Given the description of an element on the screen output the (x, y) to click on. 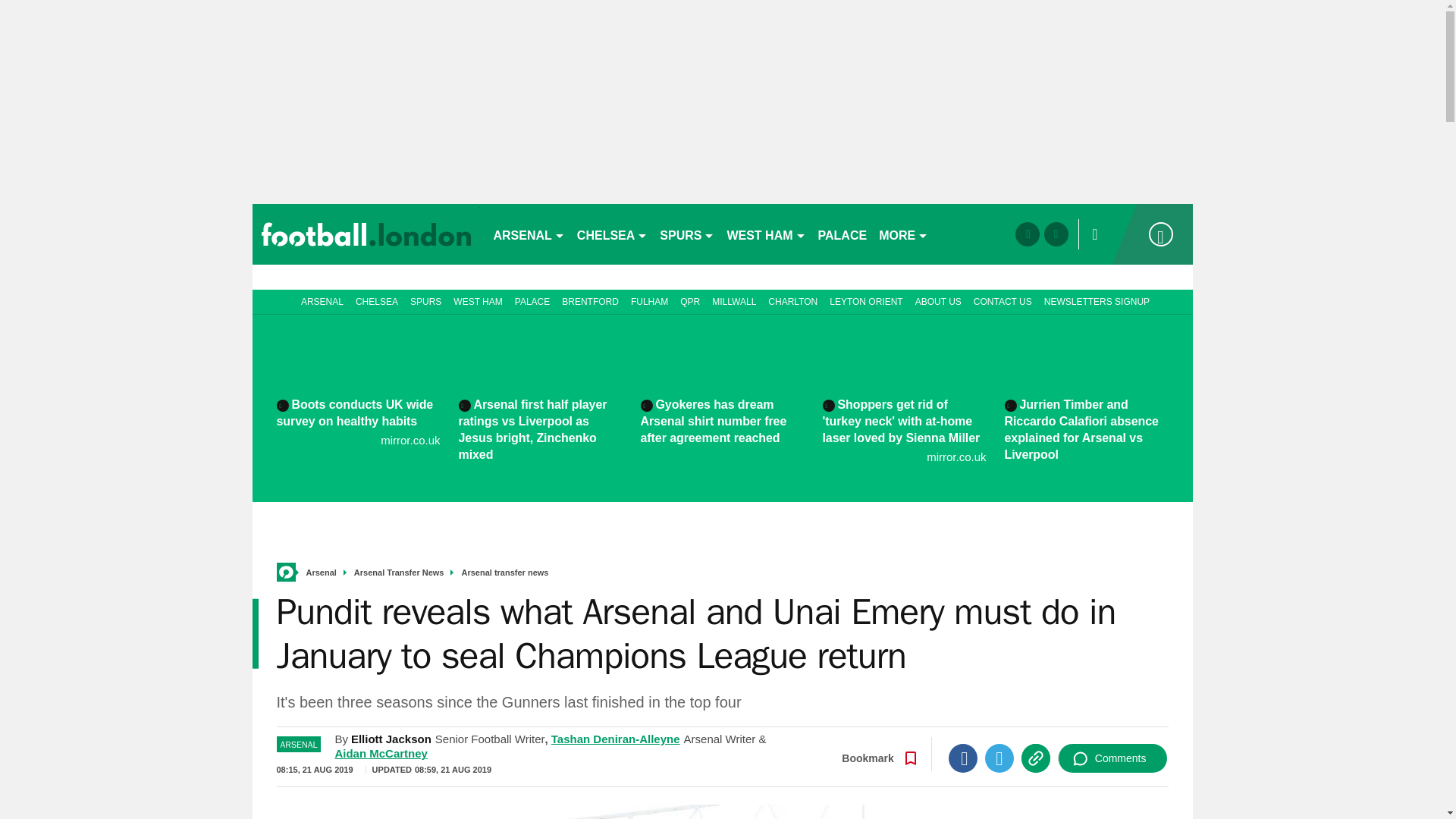
MORE (903, 233)
twitter (1055, 233)
PALACE (842, 233)
WEST HAM (765, 233)
footballlondon (365, 233)
ARSENAL (528, 233)
Twitter (999, 758)
Facebook (962, 758)
Comments (1112, 758)
facebook (1026, 233)
CHELSEA (611, 233)
SPURS (686, 233)
